Given the description of an element on the screen output the (x, y) to click on. 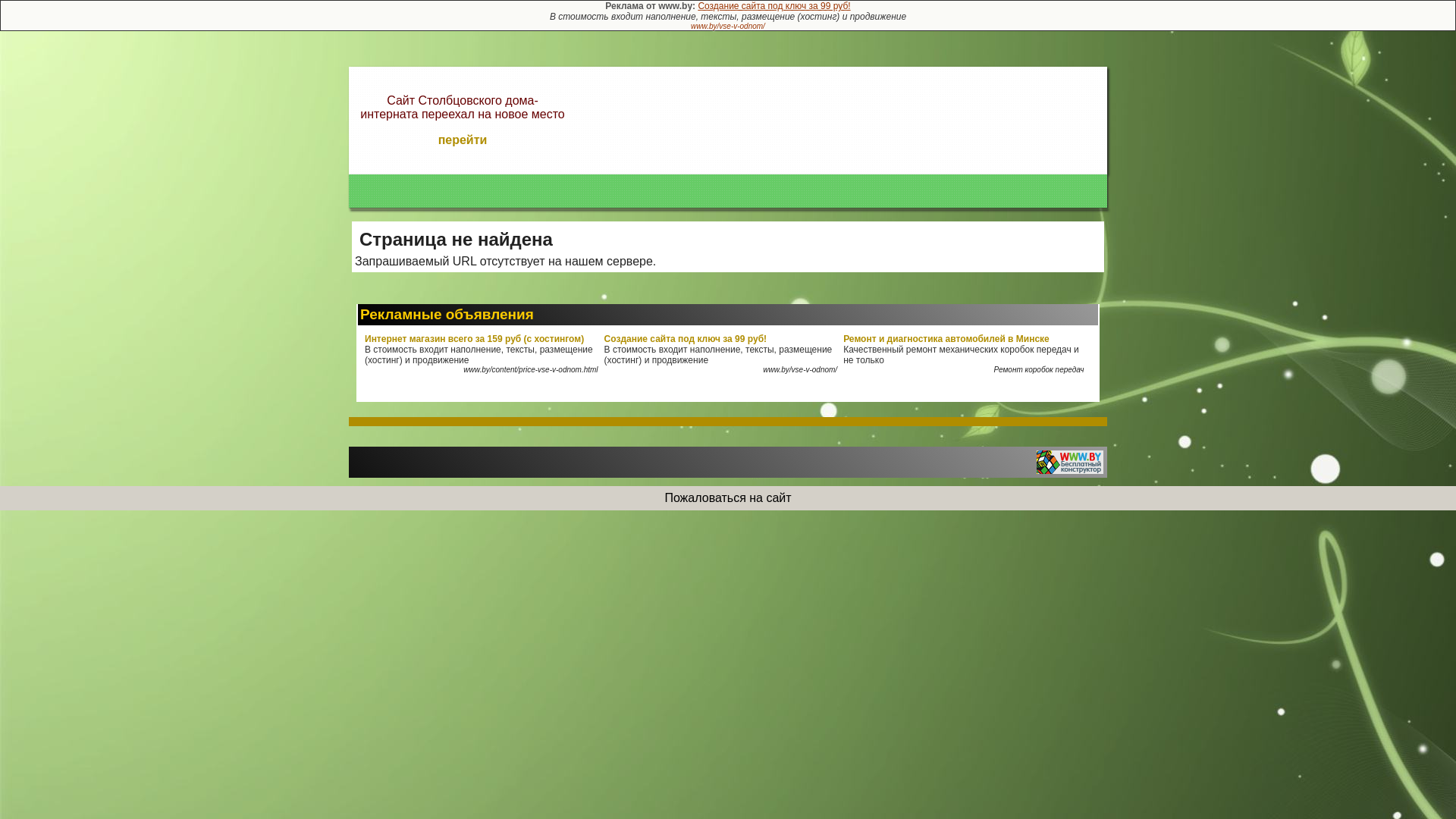
www.by/vse-v-odnom/ Element type: text (727, 25)
